Given the description of an element on the screen output the (x, y) to click on. 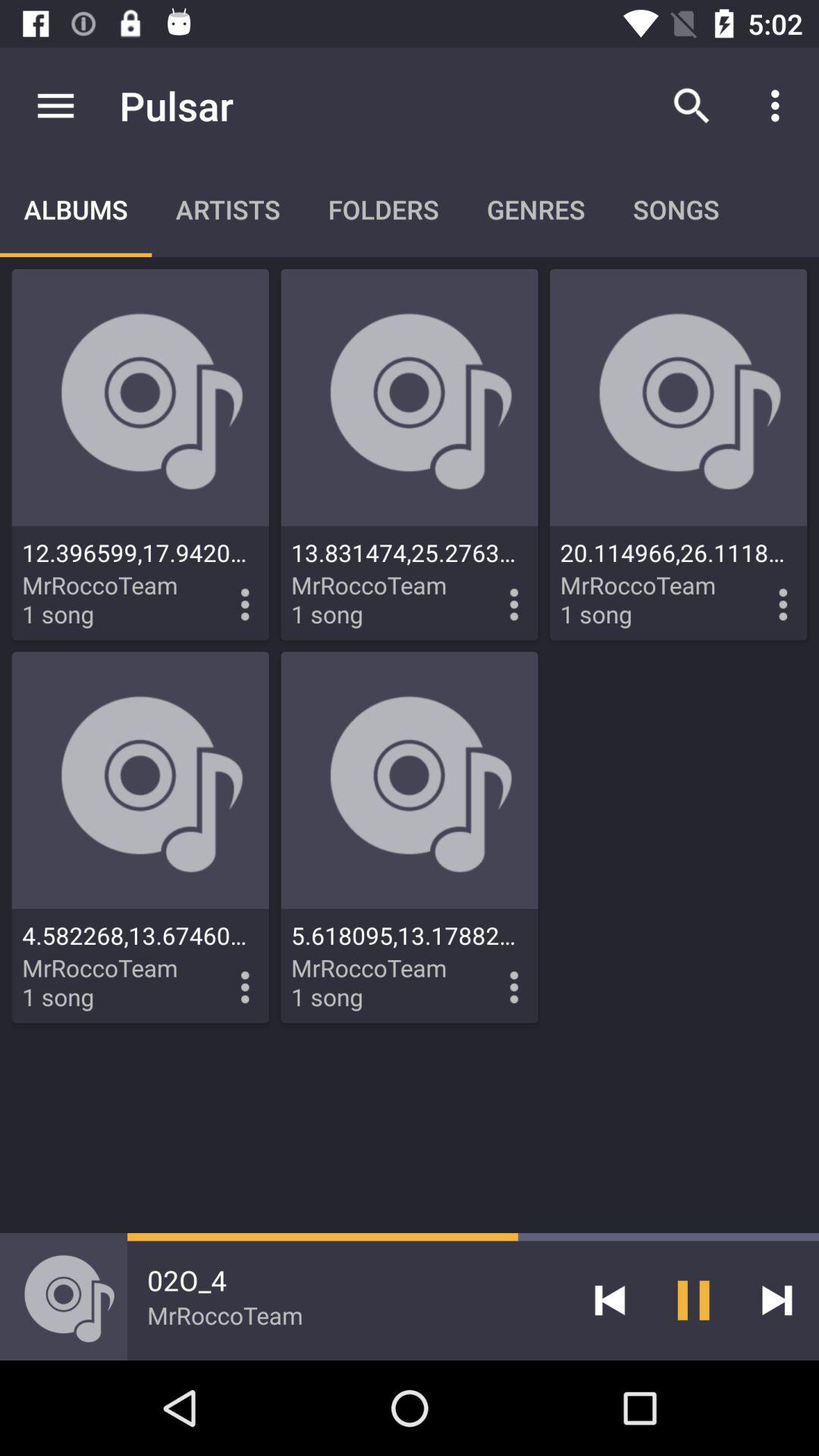
select the icon to the right of the 02o_4 item (609, 1300)
